Given the description of an element on the screen output the (x, y) to click on. 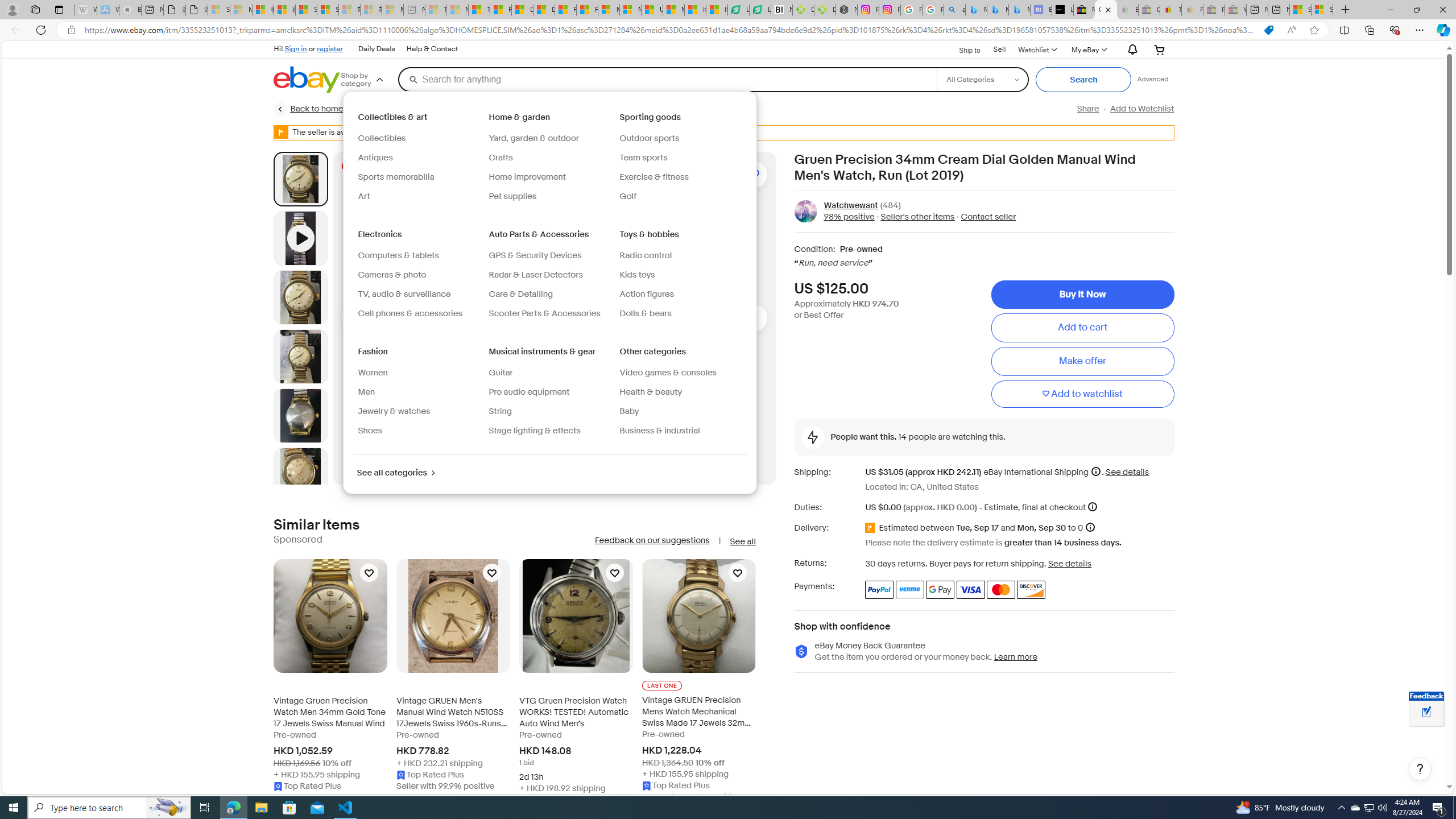
Cameras & photo (391, 275)
Add to Watchlist (1141, 108)
